Given the description of an element on the screen output the (x, y) to click on. 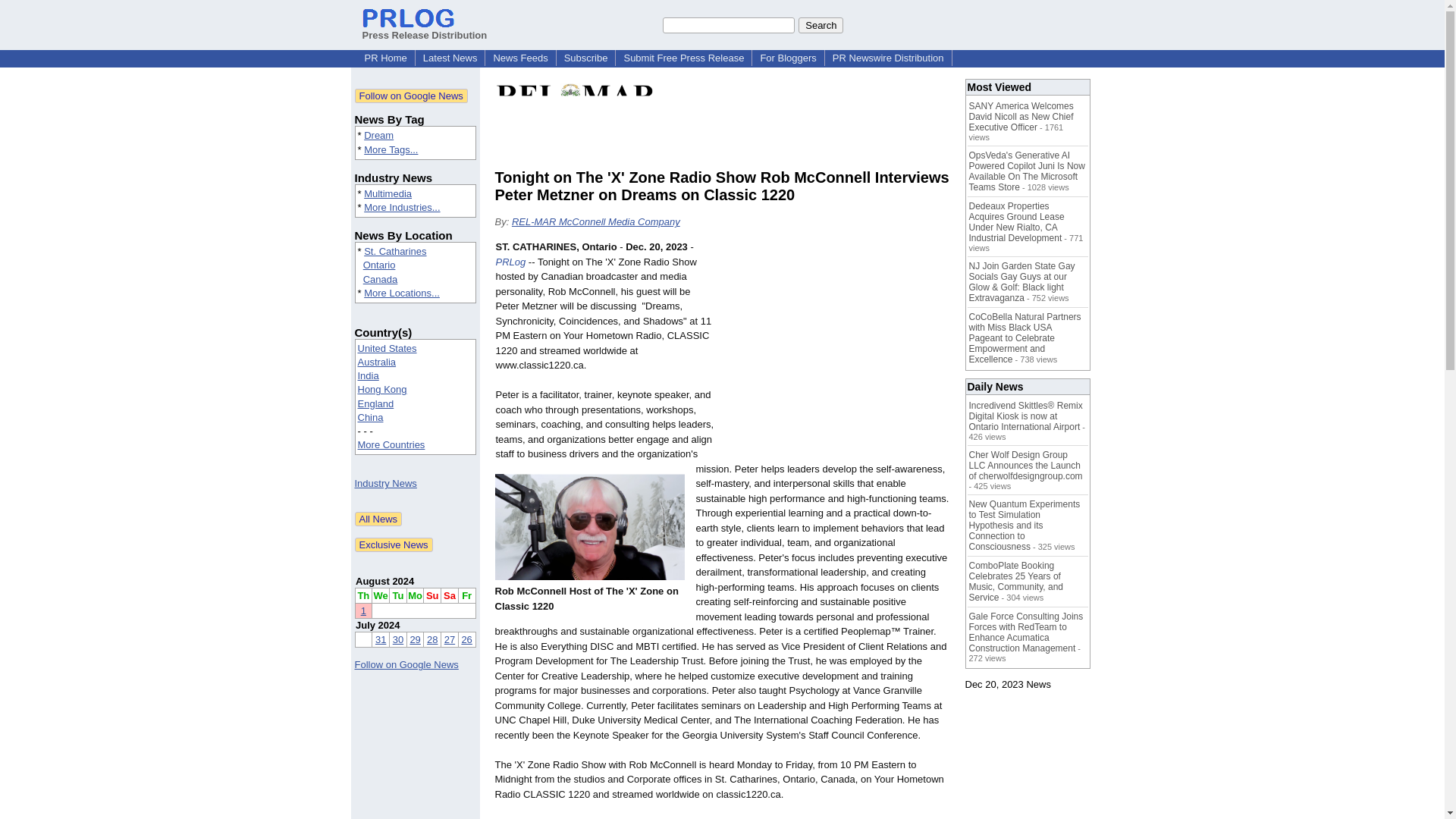
27 (449, 639)
Follow on Google News (411, 95)
Industry News (385, 482)
PR Newswire Distribution (888, 57)
St. Catharines (395, 251)
More Locations... (401, 292)
Hong Kong (382, 389)
Follow on Google News (406, 664)
Press Release Distribution (424, 29)
Exclusive News (393, 544)
More Industries... (401, 206)
More Countries (391, 444)
Search (820, 24)
REL-MAR McConnell Media Company (595, 221)
July 2024 (377, 624)
